Given the description of an element on the screen output the (x, y) to click on. 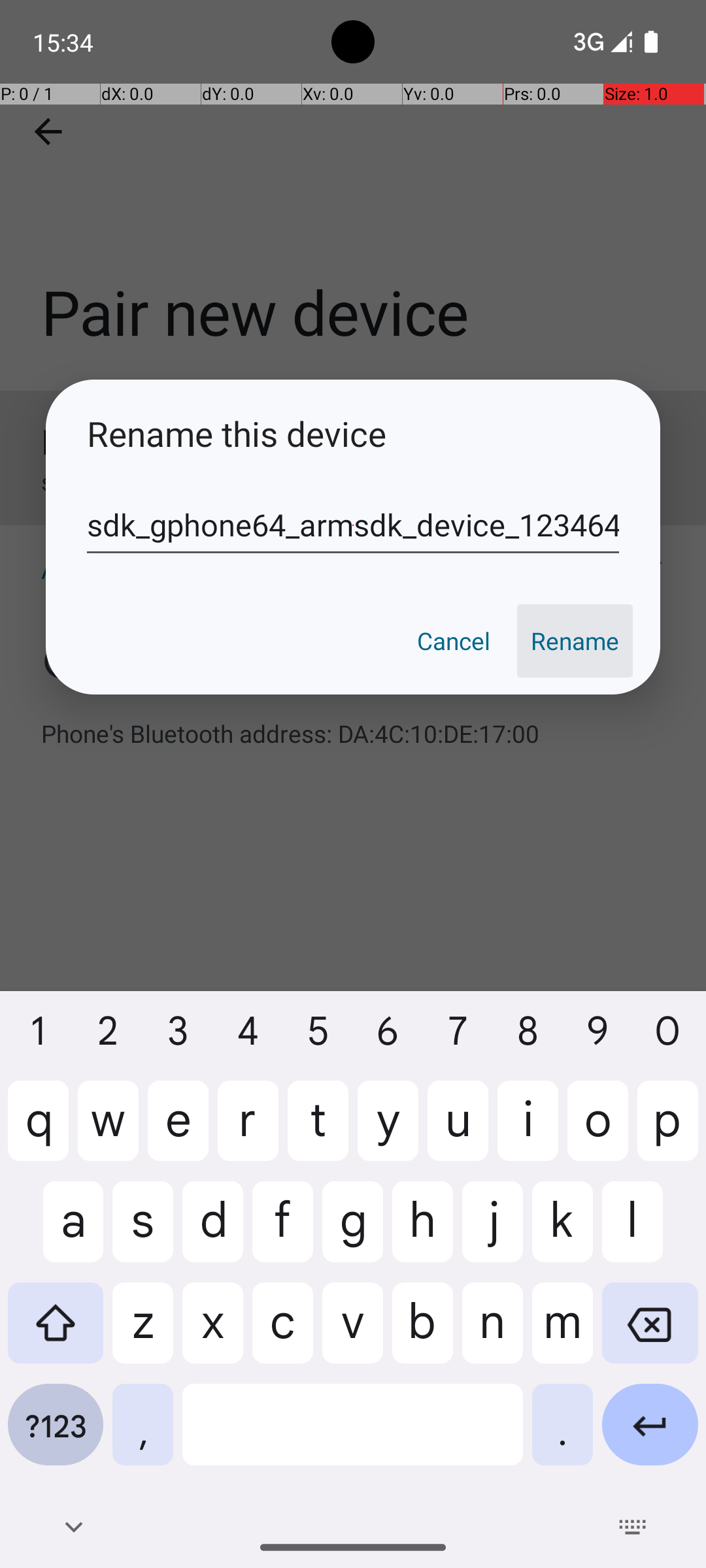
Rename this device Element type: android.widget.TextView (352, 433)
sdk_gphone64_armsdk_device_123464 Element type: android.widget.EditText (352, 525)
Rename Element type: android.widget.Button (574, 640)
